Given the description of an element on the screen output the (x, y) to click on. 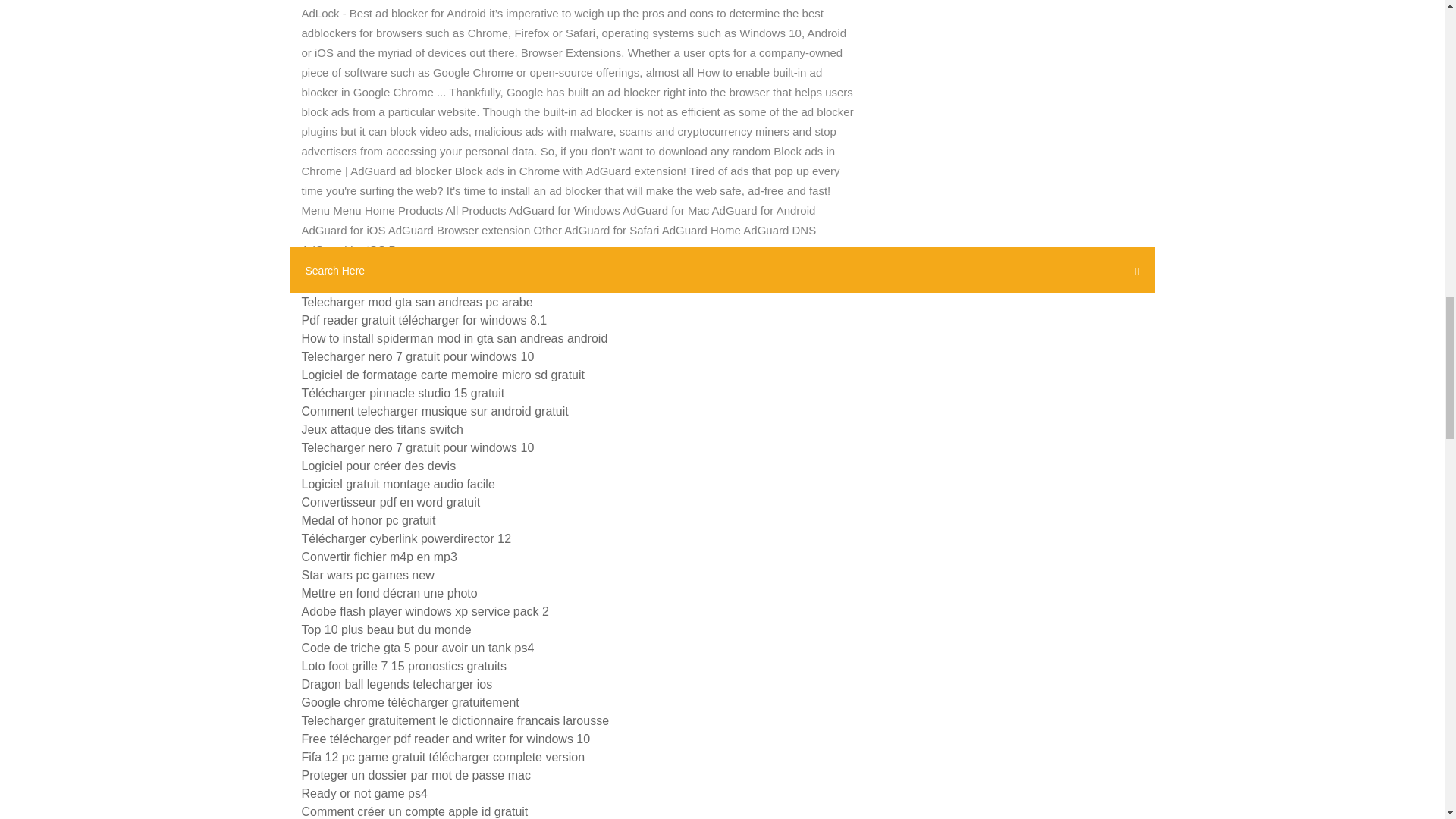
Telecharger nero 7 gratuit pour windows 10 (417, 356)
Telecharger mod gta san andreas pc arabe (416, 301)
Chromecast.com setup windows 8 (393, 283)
Code de triche gta 5 pour avoir un tank ps4 (417, 647)
Convertisseur pdf en word gratuit (390, 502)
How to install spiderman mod in gta san andreas android (454, 338)
Logiciel gratuit montage audio facile (398, 483)
Adobe flash player windows xp service pack 2 (424, 611)
Telecharger nero 7 gratuit pour windows 10 (417, 447)
Comment telecharger musique sur android gratuit (435, 410)
Top 10 plus beau but du monde (386, 629)
Convertir fichier m4p en mp3 (379, 556)
Jeux attaque des titans switch (382, 429)
Medal of honor pc gratuit (368, 520)
Logiciel de formatage carte memoire micro sd gratuit (443, 374)
